Given the description of an element on the screen output the (x, y) to click on. 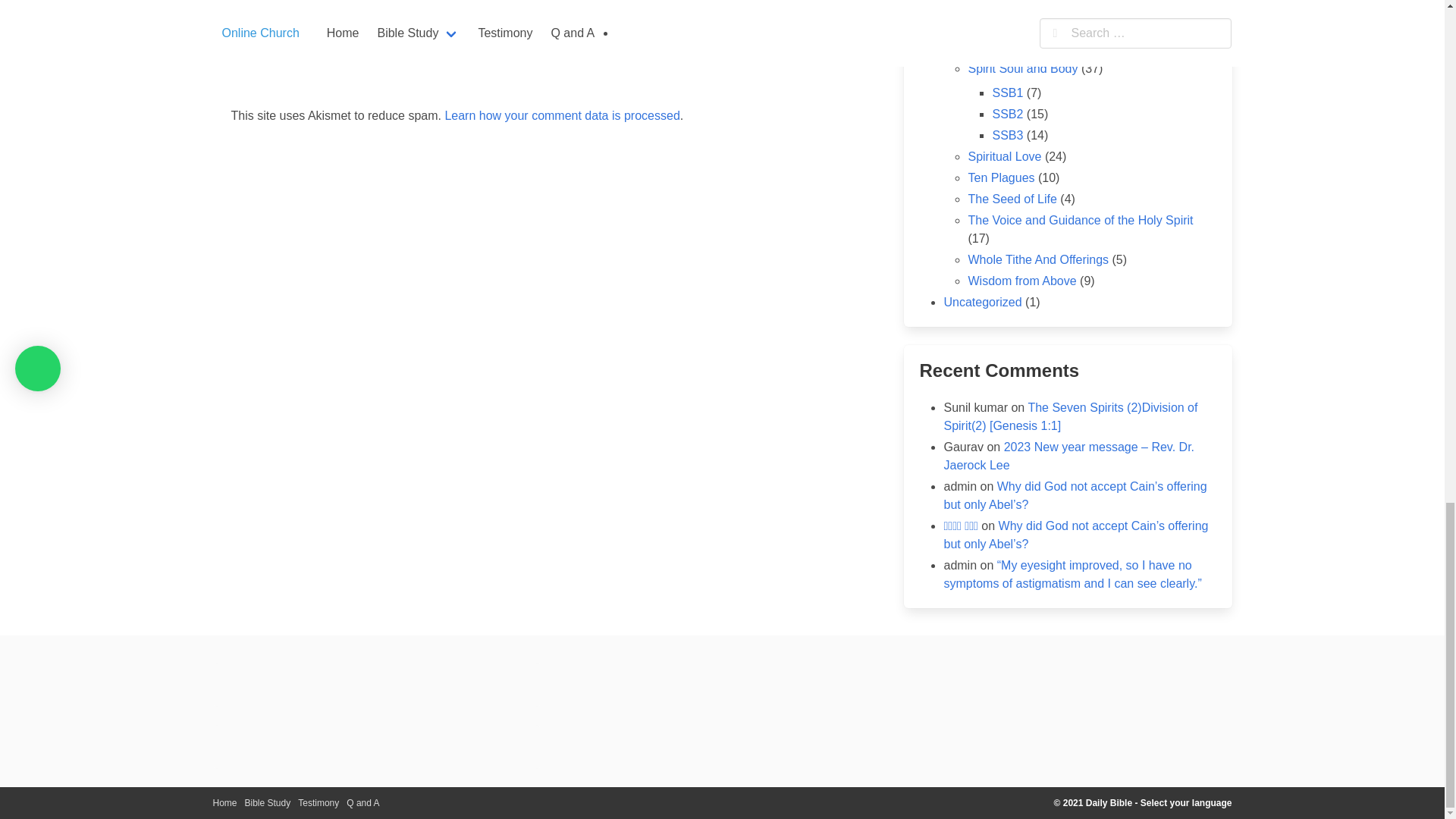
Post Comment (812, 24)
Post Comment (812, 24)
Learn how your comment data is processed (561, 115)
